Given the description of an element on the screen output the (x, y) to click on. 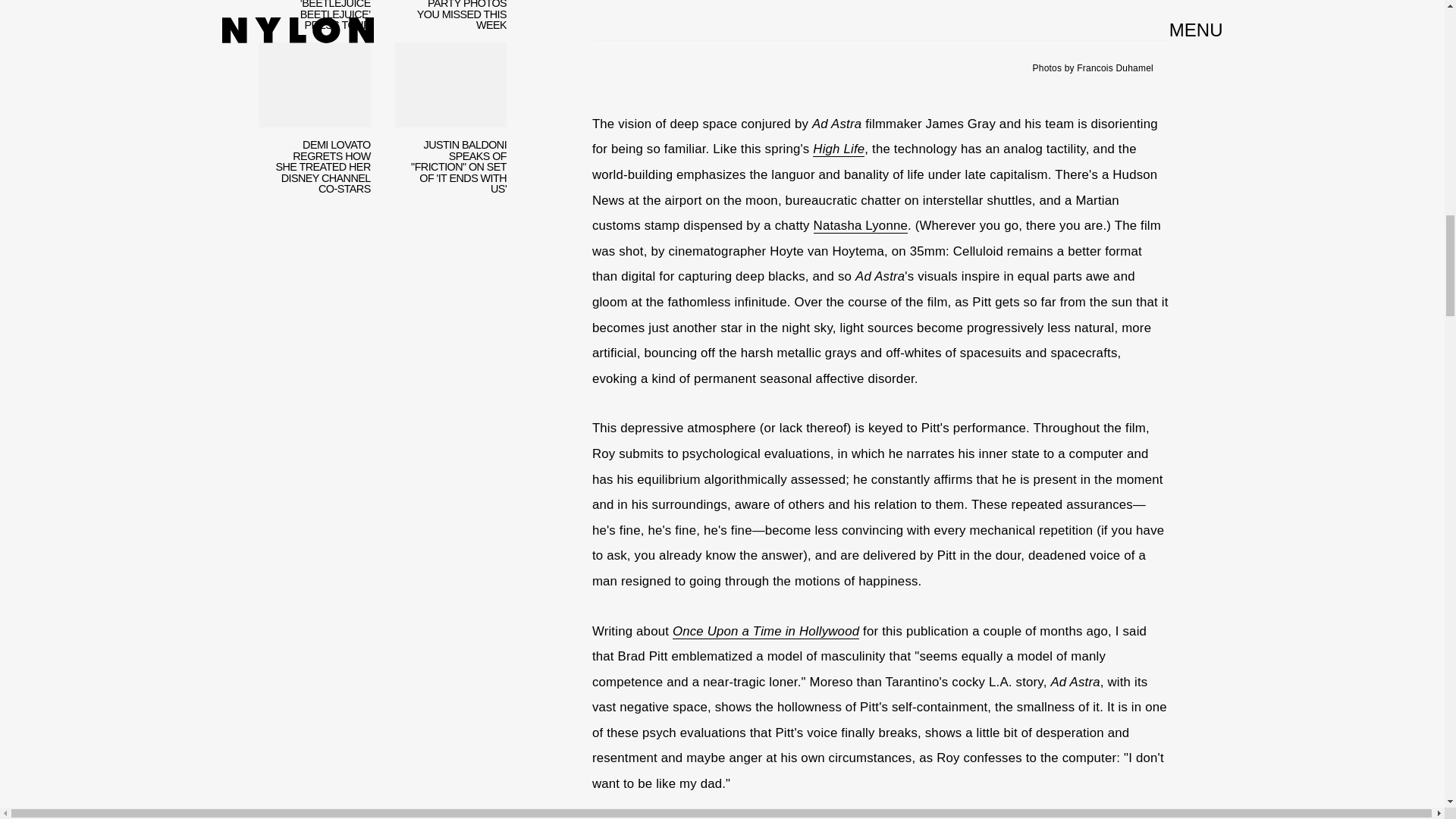
Natasha Lyonne (860, 225)
High Life (838, 149)
Once Upon a Time in Hollywood (765, 631)
